Given the description of an element on the screen output the (x, y) to click on. 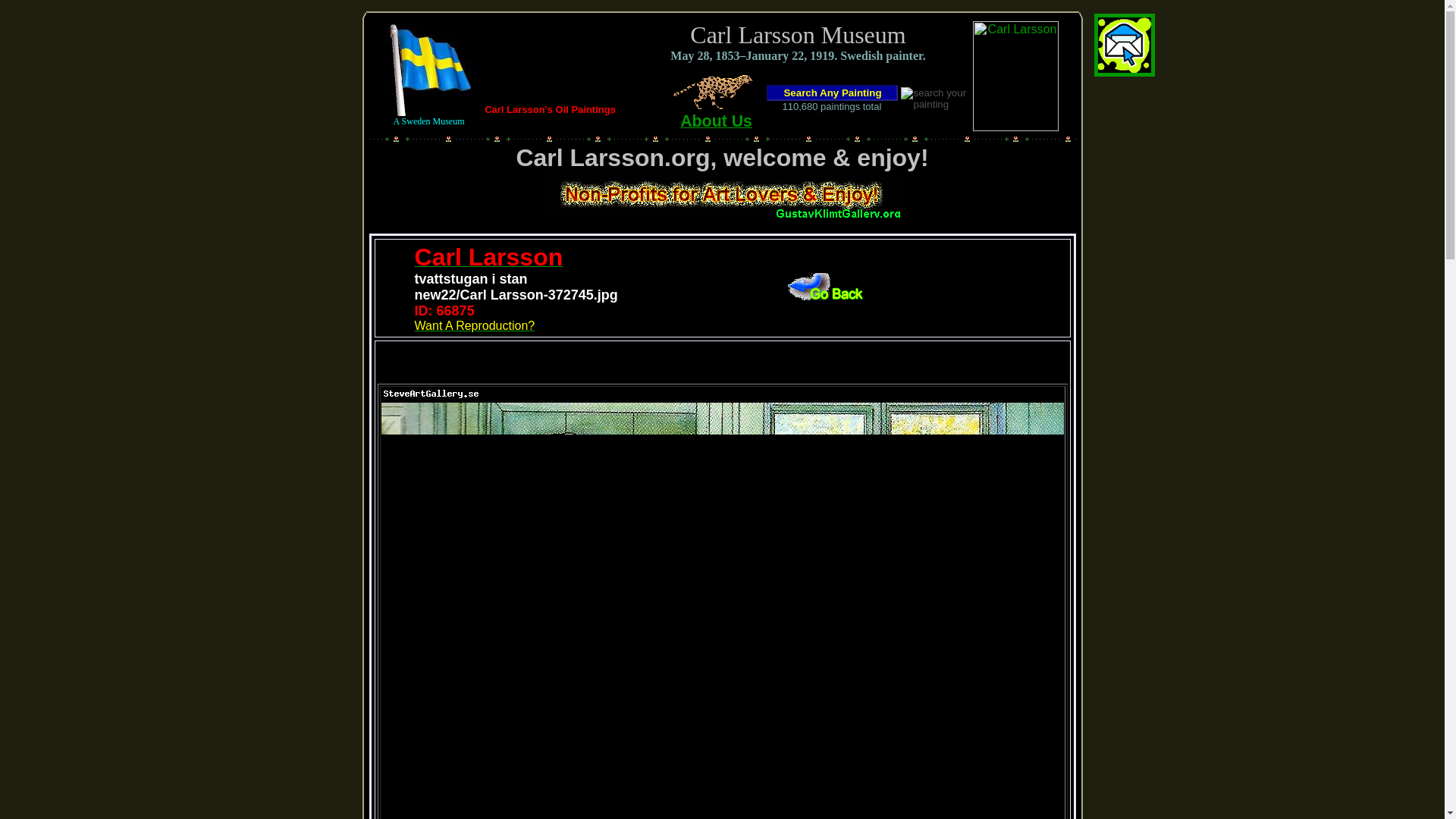
About Us (708, 114)
Search Any Painting (832, 92)
Carl Larsson (488, 260)
Want A Reproduction? (474, 325)
